Given the description of an element on the screen output the (x, y) to click on. 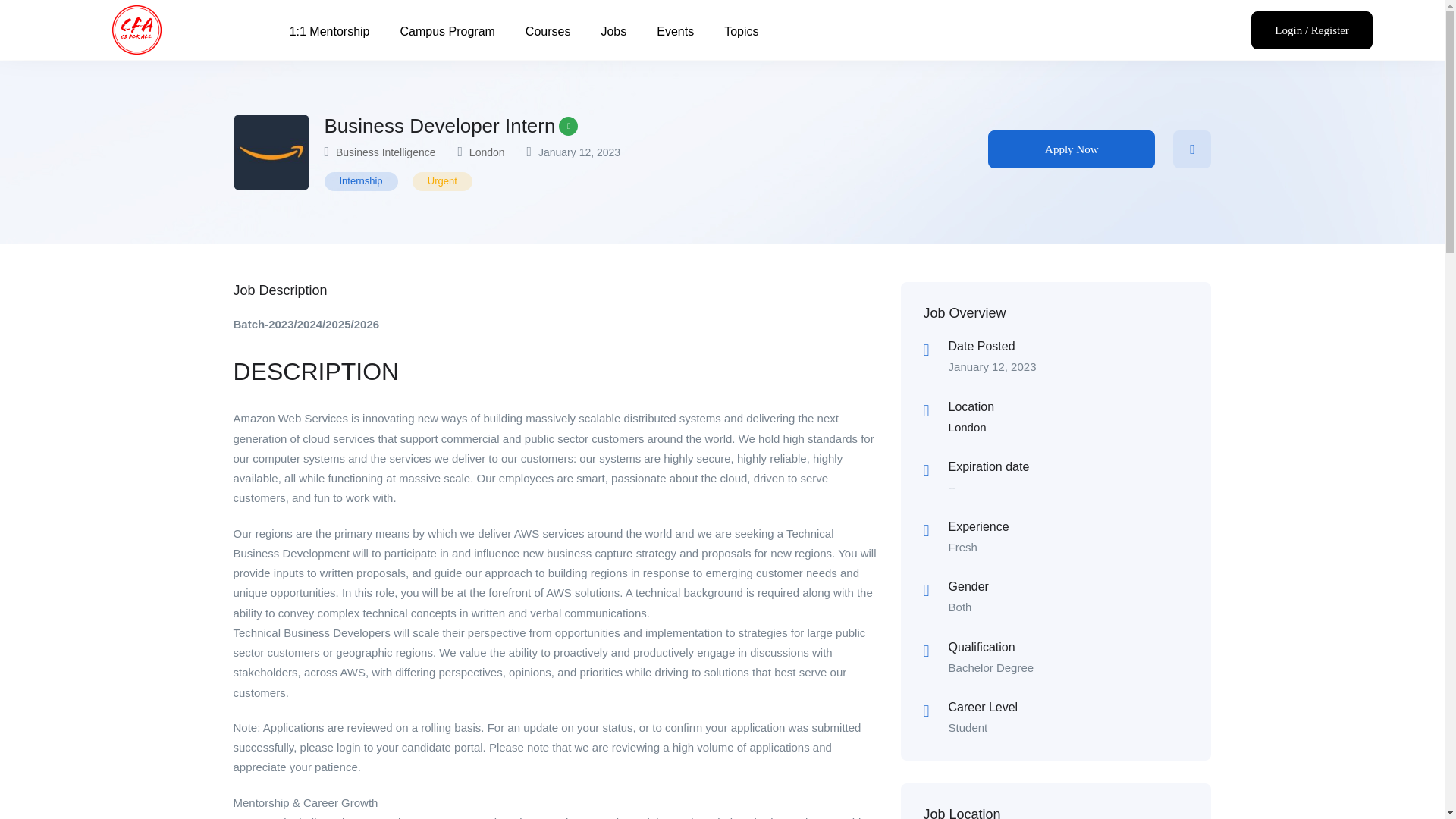
Courses (548, 31)
Topics (741, 31)
1:1 Mentorship (330, 31)
Events (675, 31)
Jobs (613, 31)
Campus Program (446, 31)
